Given the description of an element on the screen output the (x, y) to click on. 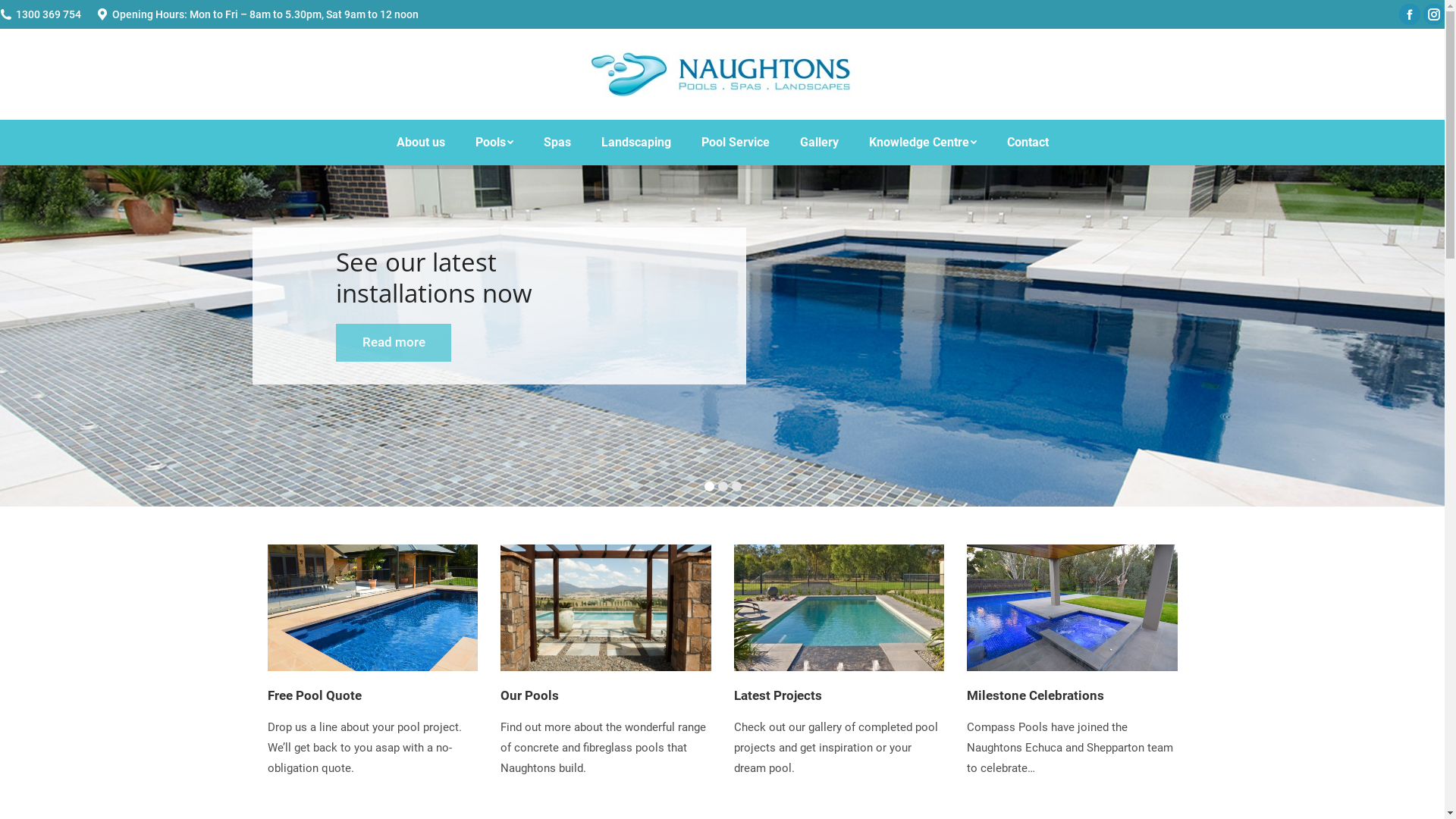
Gallery Element type: text (818, 142)
Instagram page opens in new window Element type: text (1433, 14)
Pools Element type: text (493, 142)
Facebook page opens in new window Element type: text (1409, 14)
Pool Service Element type: text (734, 142)
Contact Element type: text (1027, 142)
Spas Element type: text (556, 142)
About us Element type: text (419, 142)
Landscaping Element type: text (635, 142)
1300 369 754 Element type: text (48, 13)
Knowledge Centre Element type: text (922, 142)
